Given the description of an element on the screen output the (x, y) to click on. 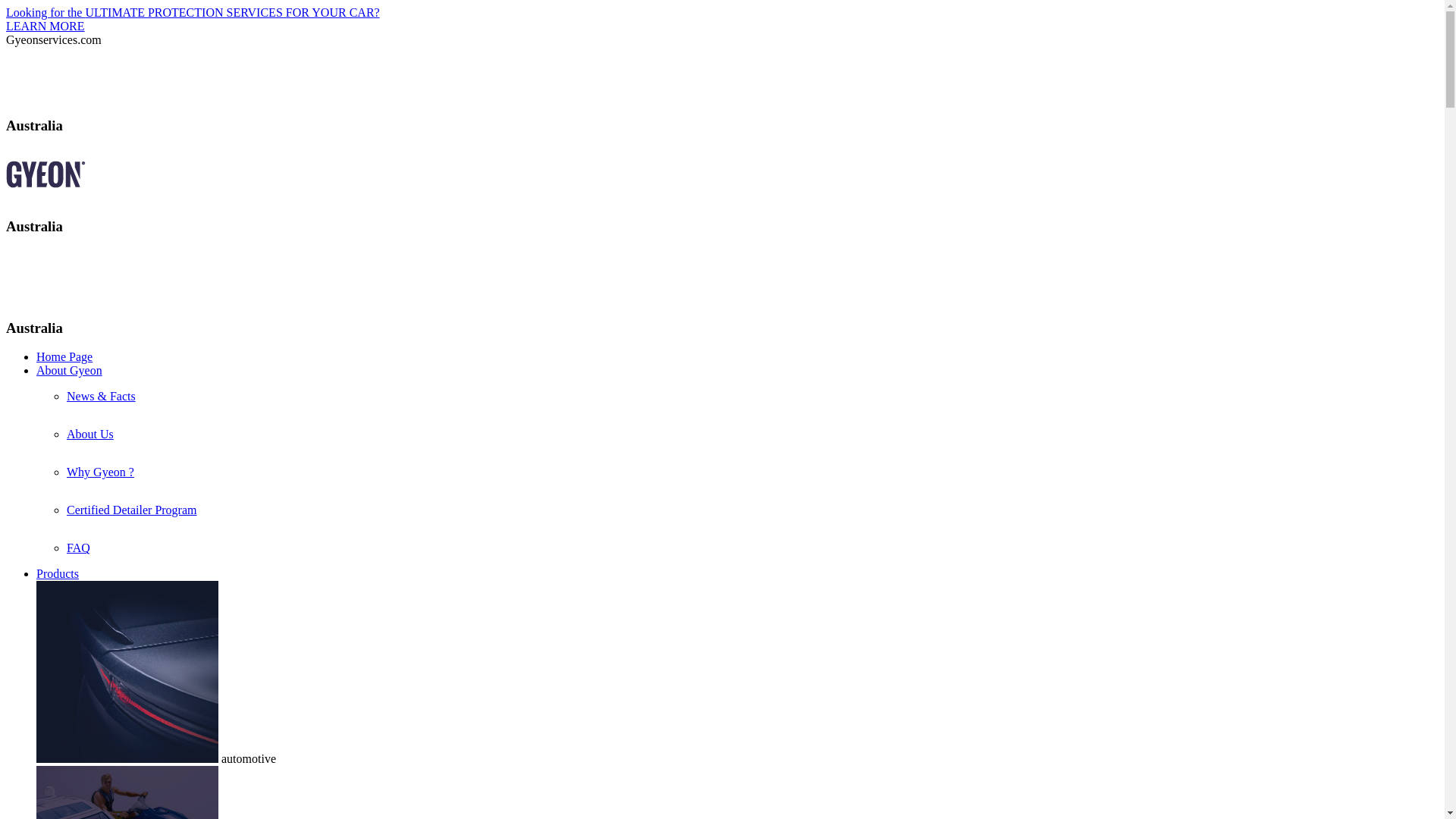
About Gyeon Element type: text (69, 370)
Home Page Element type: text (64, 356)
Certified Detailer Program Element type: text (131, 509)
News & Facts Element type: text (100, 395)
Products Element type: text (57, 573)
FAQ Element type: text (78, 547)
About Us Element type: text (89, 433)
Why Gyeon ? Element type: text (100, 471)
